Given the description of an element on the screen output the (x, y) to click on. 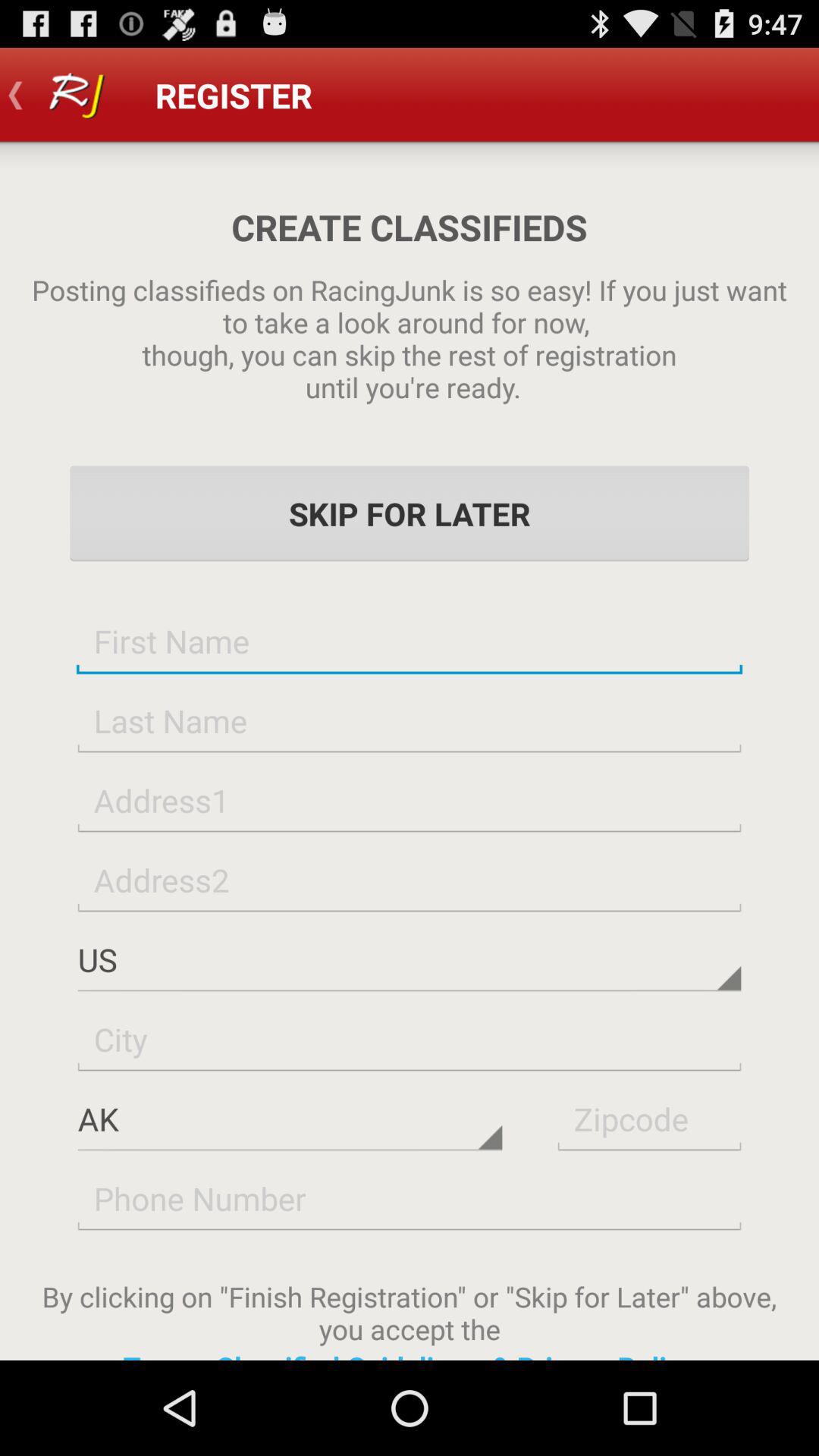
type address (409, 800)
